Given the description of an element on the screen output the (x, y) to click on. 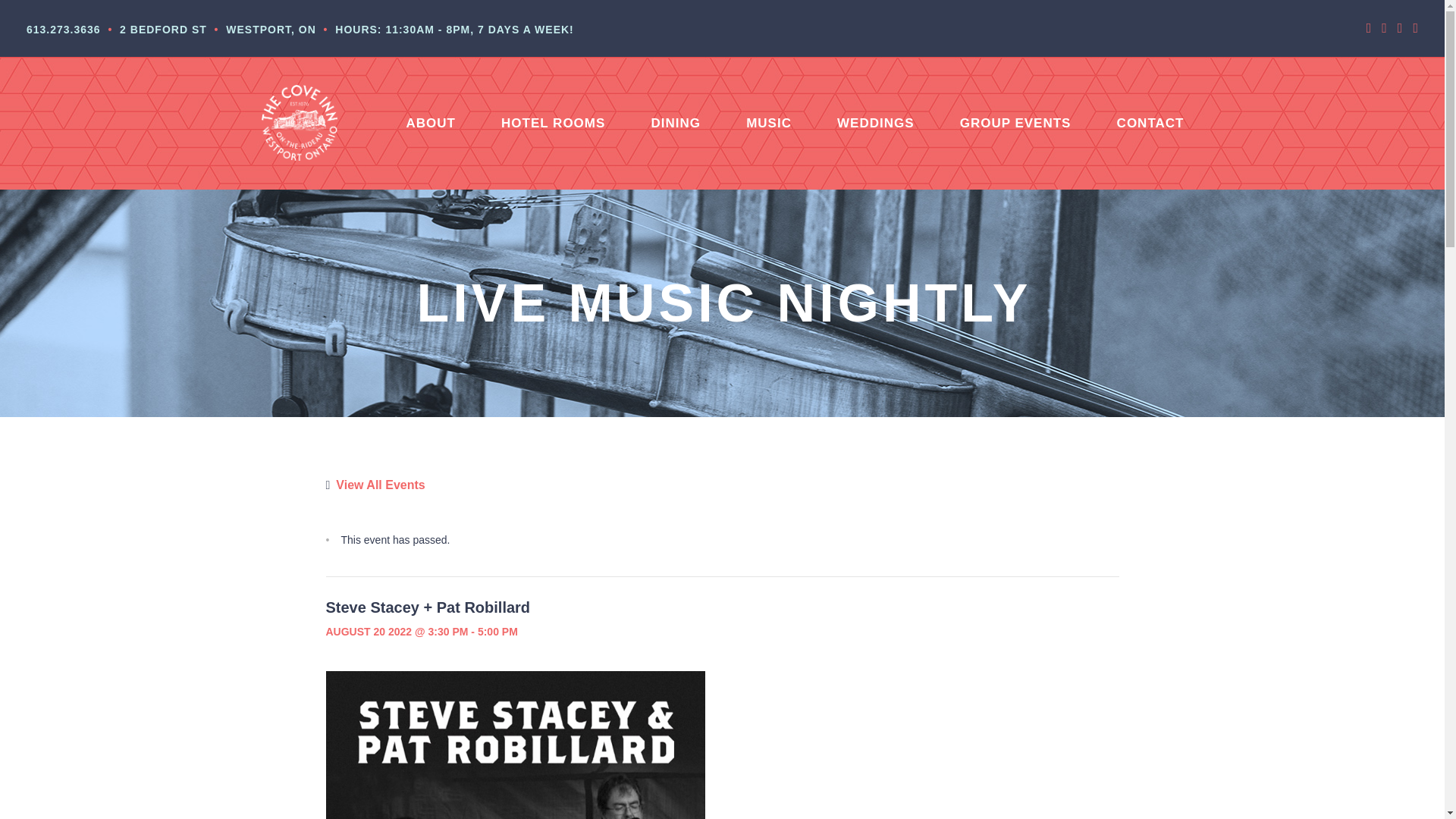
CONTACT (1150, 123)
HOTEL ROOMS (552, 123)
ABOUT (430, 123)
View All Events (375, 484)
DINING (675, 123)
GROUP EVENTS (1015, 123)
MUSIC (768, 123)
613.273.3636 (63, 29)
WEDDINGS (875, 123)
